Given the description of an element on the screen output the (x, y) to click on. 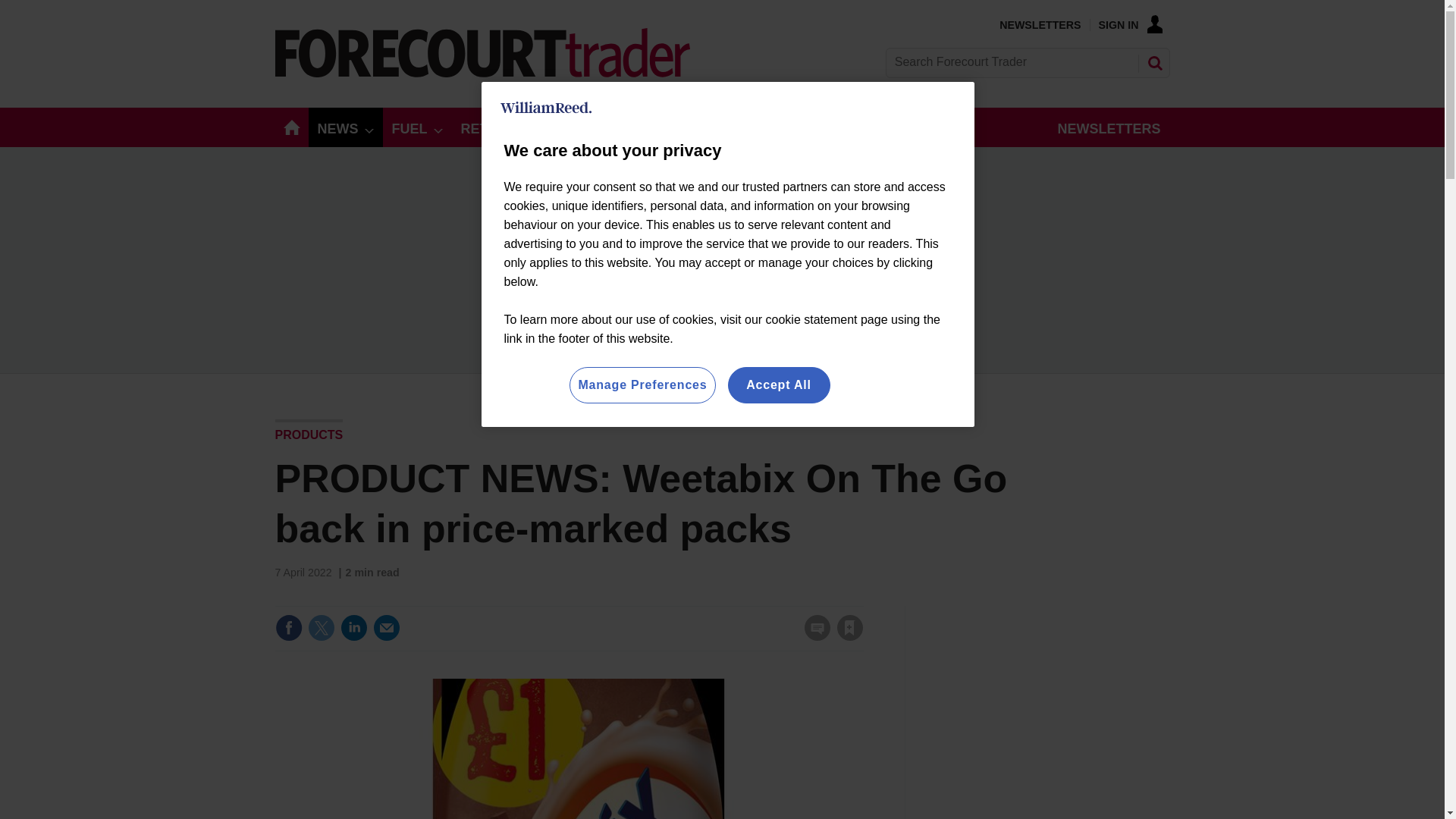
Share this on Twitter (320, 627)
3rd party ad content (1055, 700)
Share this on Facebook (288, 627)
Share this on Linked in (352, 627)
SIGN IN (1130, 24)
SEARCH (1153, 62)
NEWSLETTERS (1039, 24)
Email this article (386, 627)
William Reed (545, 107)
Site name (482, 72)
No comments (812, 636)
